Given the description of an element on the screen output the (x, y) to click on. 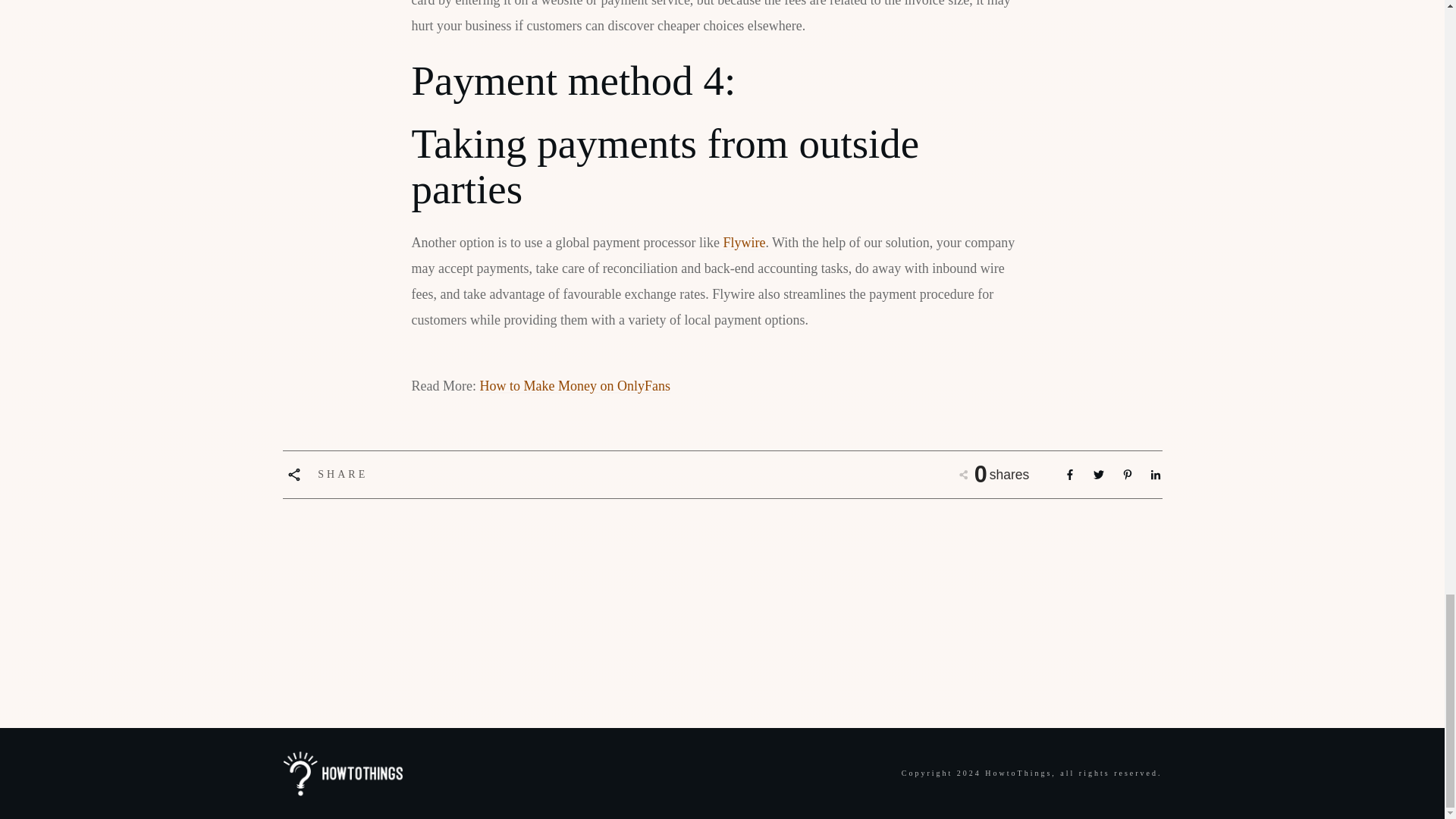
How to Make Money on OnlyFans (574, 385)
How to Make Money on OnlyFans (574, 385)
Flywire (743, 242)
